Given the description of an element on the screen output the (x, y) to click on. 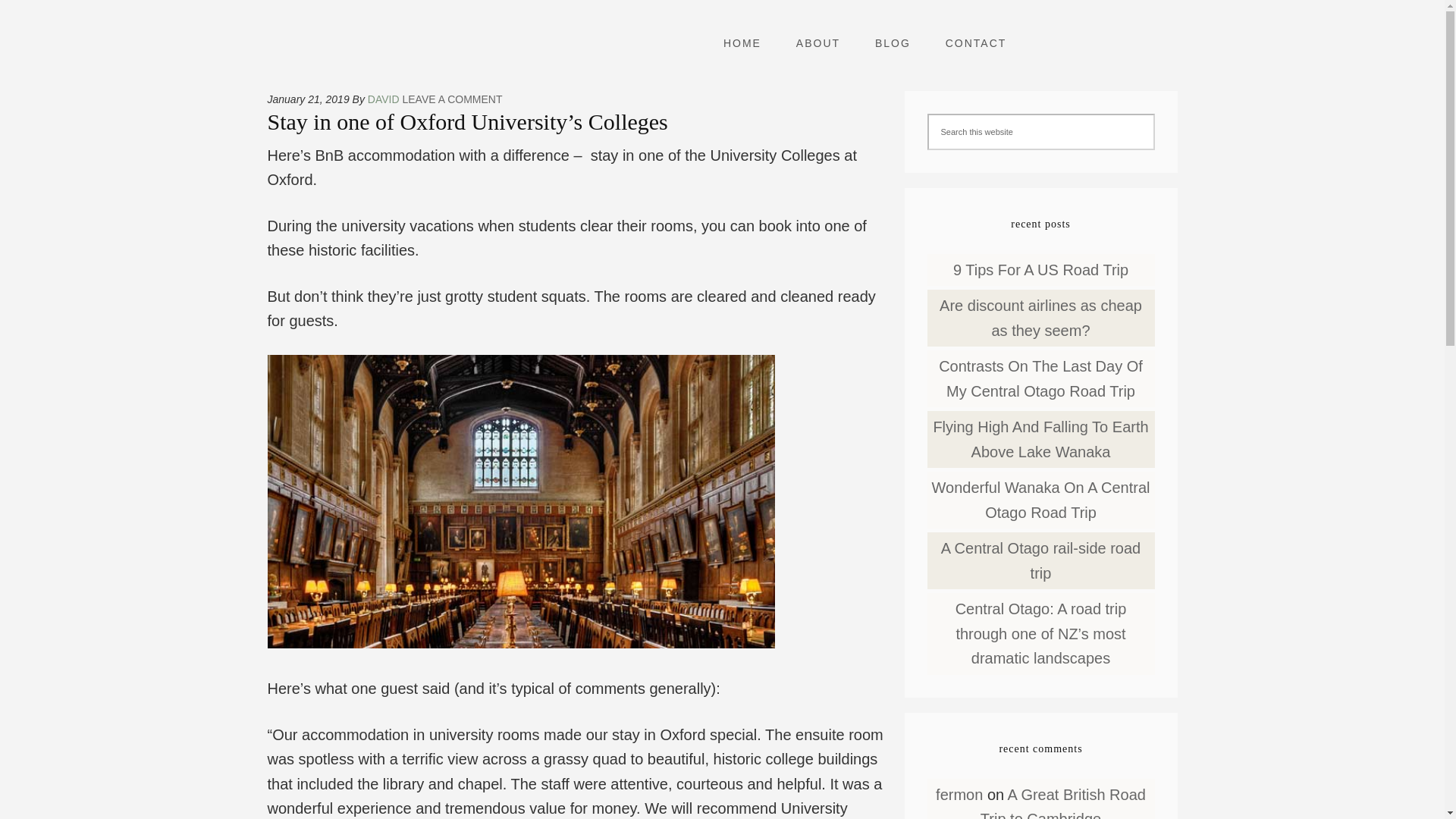
BLOG (893, 42)
DAVID (383, 99)
9 Tips For A US Road Trip (1040, 269)
HOME (741, 42)
Flying High And Falling To Earth Above Lake Wanaka (1040, 439)
Contrasts On The Last Day Of My Central Otago Road Trip (1040, 378)
Wonderful Wanaka On A Central Otago Road Trip (1040, 499)
LEAVE A COMMENT (451, 99)
fermon (959, 794)
